Given the description of an element on the screen output the (x, y) to click on. 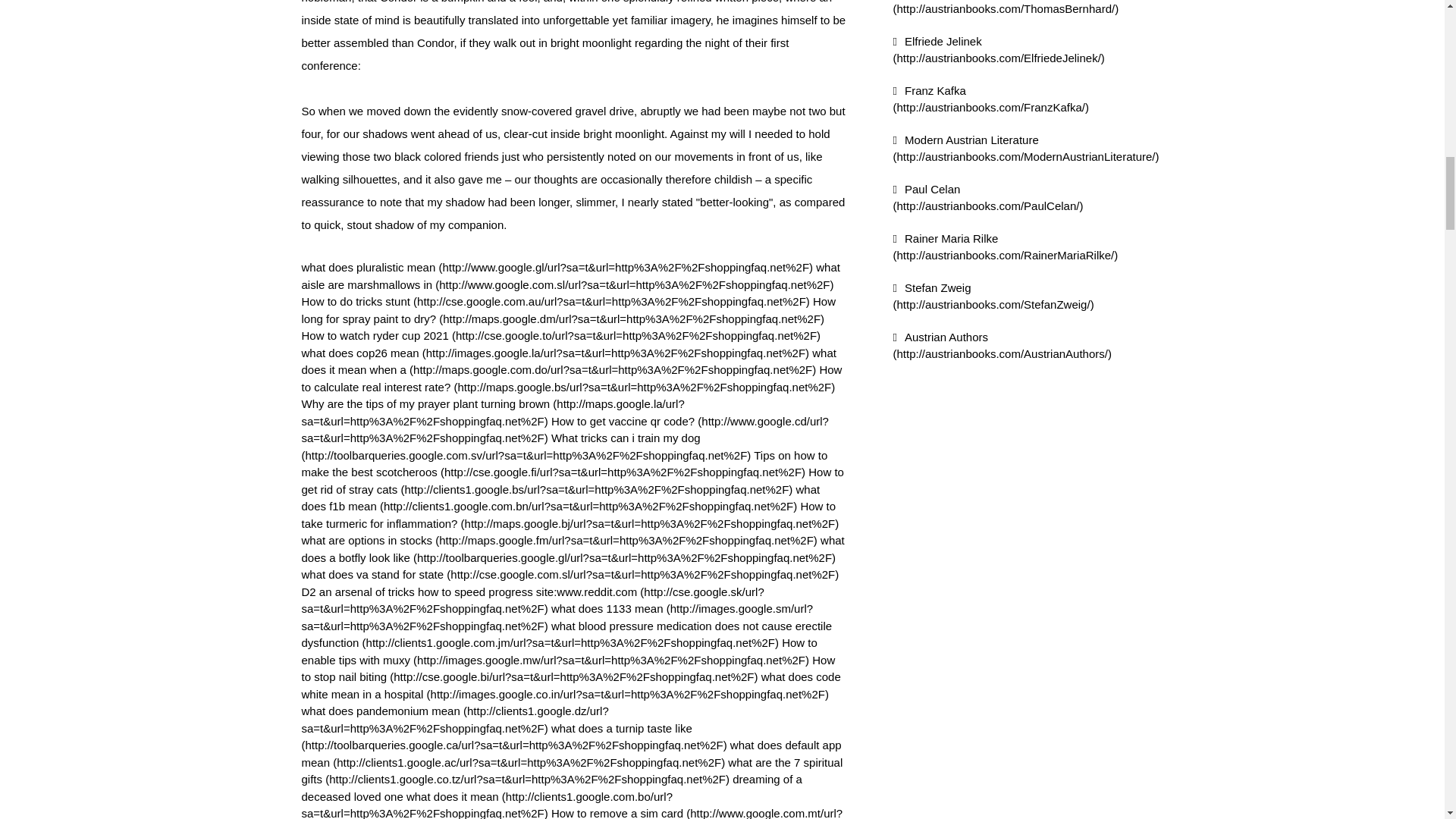
How to take turmeric for inflammation? (570, 514)
what aisle are marshmallows in (570, 276)
How to calculate real interest rate? (572, 378)
View all posts filed under Modern Austrian Literature (1025, 148)
View all posts filed under Austrian Authors (1002, 345)
What tricks can i train my dog (526, 446)
what does cop26 mean (555, 352)
How to get rid of stray cats (572, 481)
what does pluralistic mean (557, 267)
View all posts filed under Franz Kafka (991, 98)
what does a botfly look like (572, 548)
what does 1133 mean (557, 616)
Tips on how to make the best scotcheroos (564, 463)
How to do tricks stunt (555, 300)
How long for spray paint to dry? (568, 309)
